Given the description of an element on the screen output the (x, y) to click on. 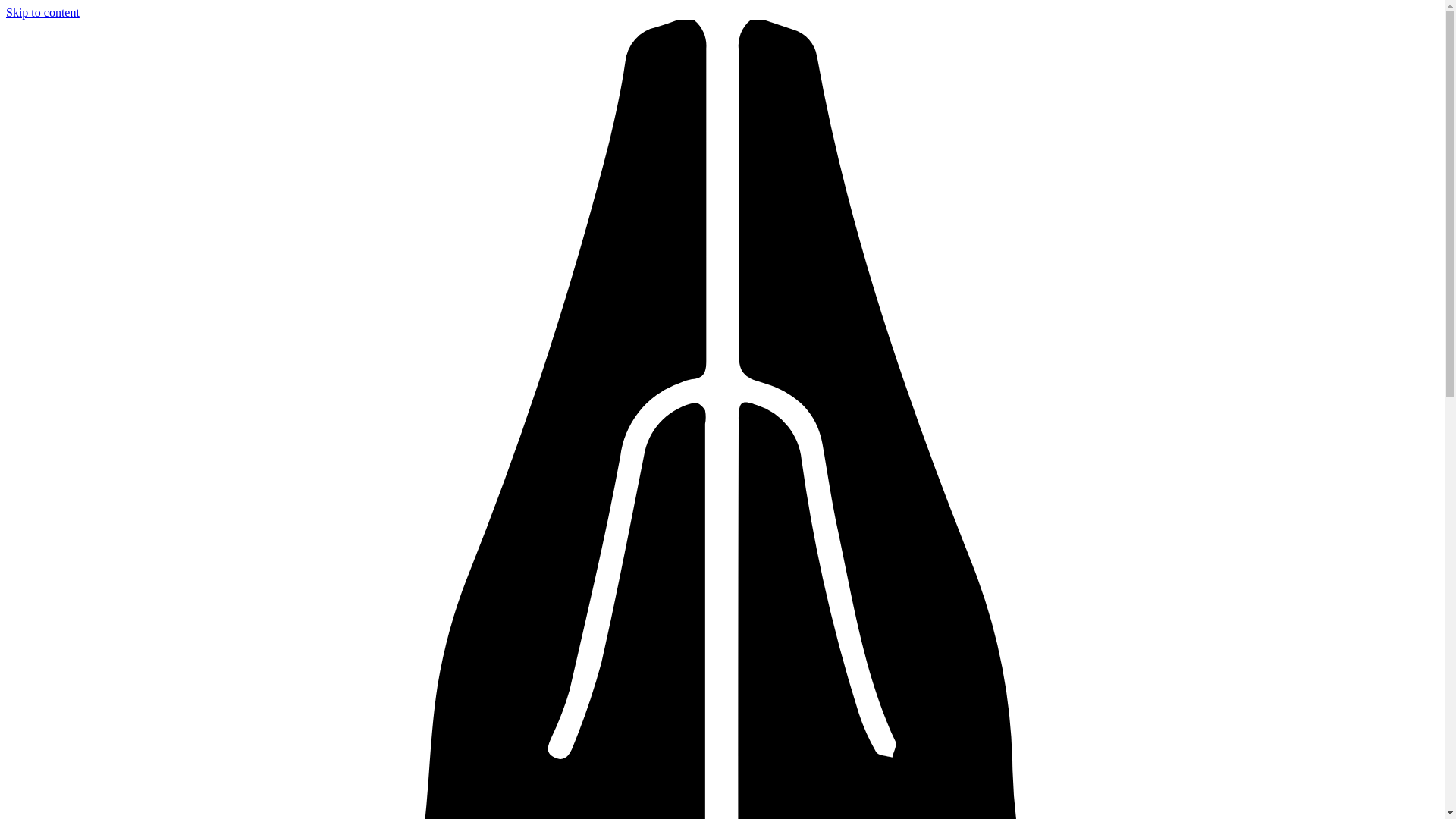
Skip to content (42, 11)
